Given the description of an element on the screen output the (x, y) to click on. 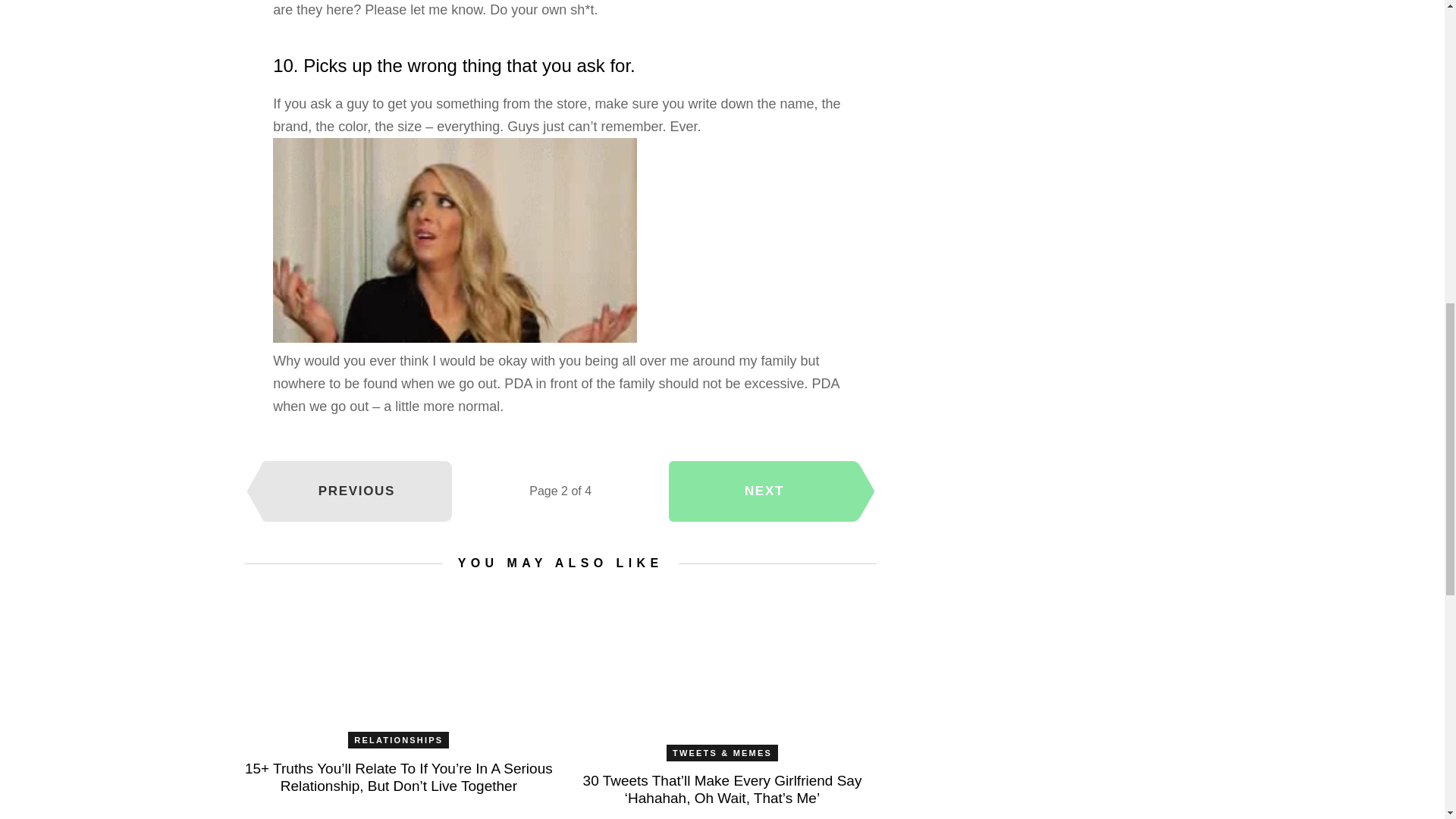
PREVIOUS (355, 491)
RELATIONSHIPS (397, 740)
NEXT (764, 491)
